Given the description of an element on the screen output the (x, y) to click on. 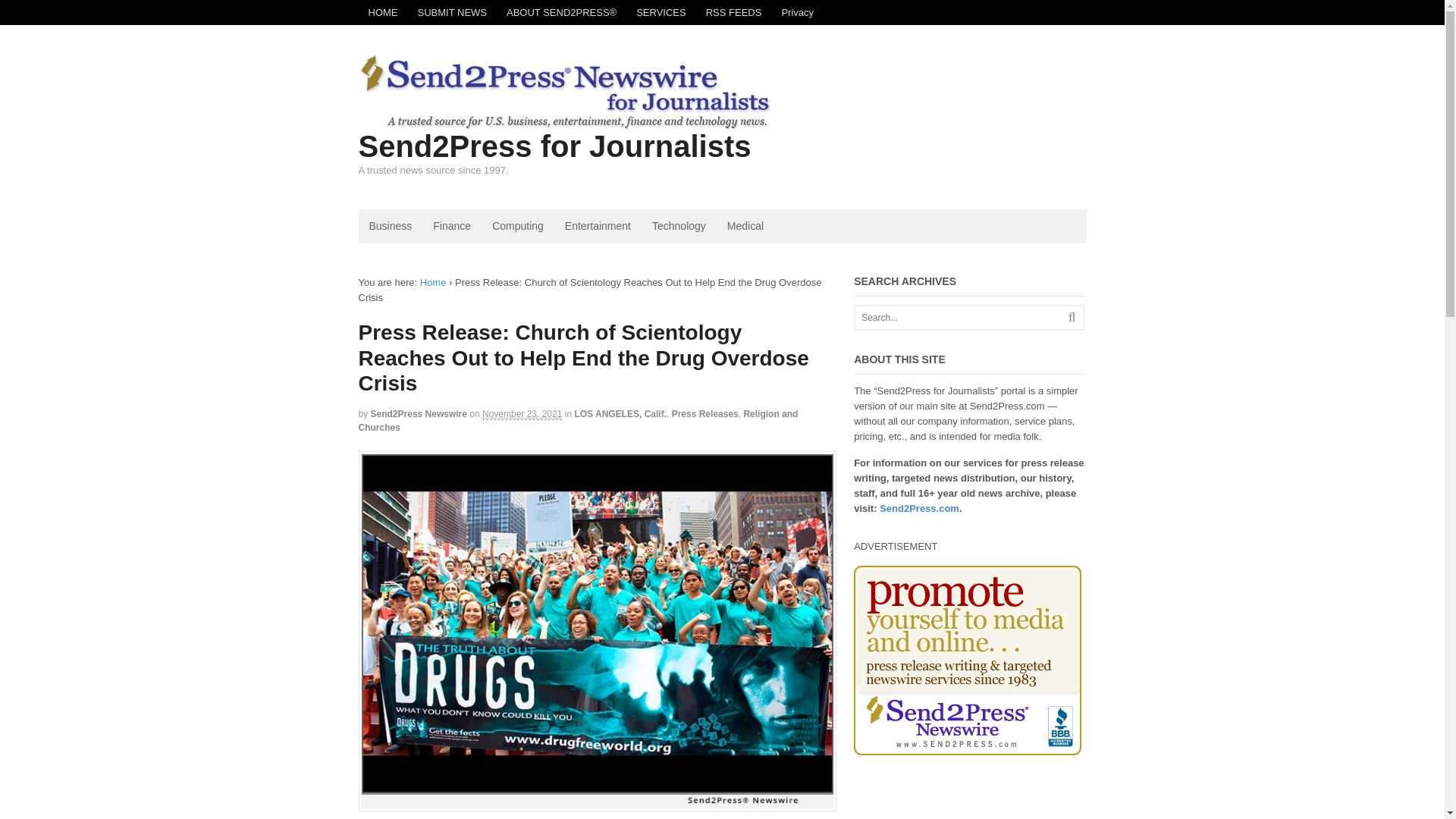
SUBMIT NEWS (452, 12)
A trusted news source since 1997. (566, 122)
Press Releases (704, 413)
HOME (382, 12)
Send2Press for Journalists (554, 145)
Posts by Send2Press Newswire (419, 413)
Home (433, 282)
Medical (745, 226)
Search... (958, 317)
Send2Press Newswire (419, 413)
View all items in LOS ANGELES, Calif. (619, 413)
SERVICES (660, 12)
RSS FEEDS (733, 12)
2021-11-23T13:05:54-0800 (521, 414)
Send2Press for Journalists (433, 282)
